Given the description of an element on the screen output the (x, y) to click on. 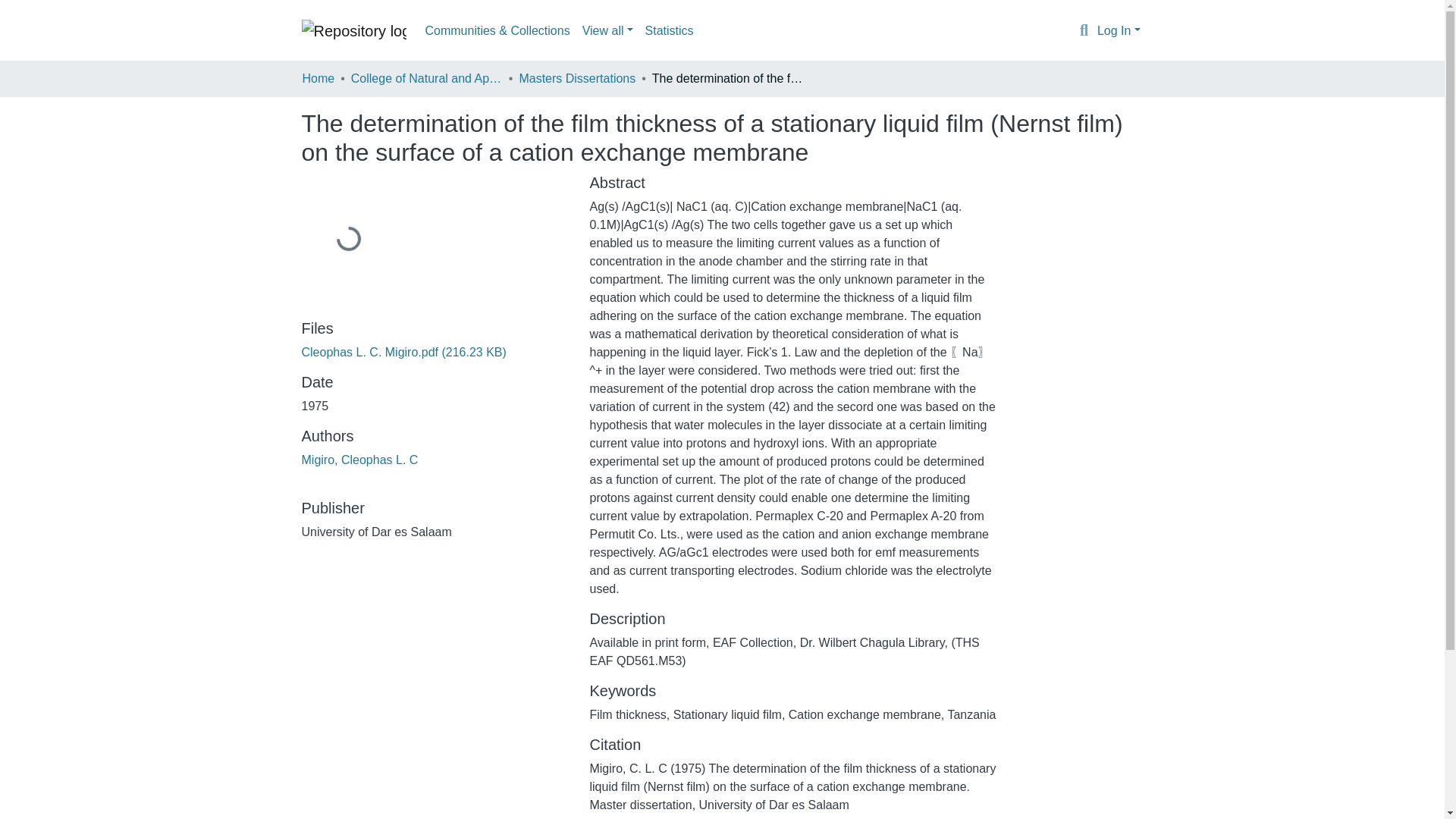
Home (317, 78)
College of Natural and Applied Sciences (426, 78)
View all (607, 30)
Masters Dissertations (576, 78)
Log In (1118, 30)
Statistics (669, 30)
Migiro, Cleophas L. C (360, 459)
Statistics (669, 30)
Search (1084, 30)
